Given the description of an element on the screen output the (x, y) to click on. 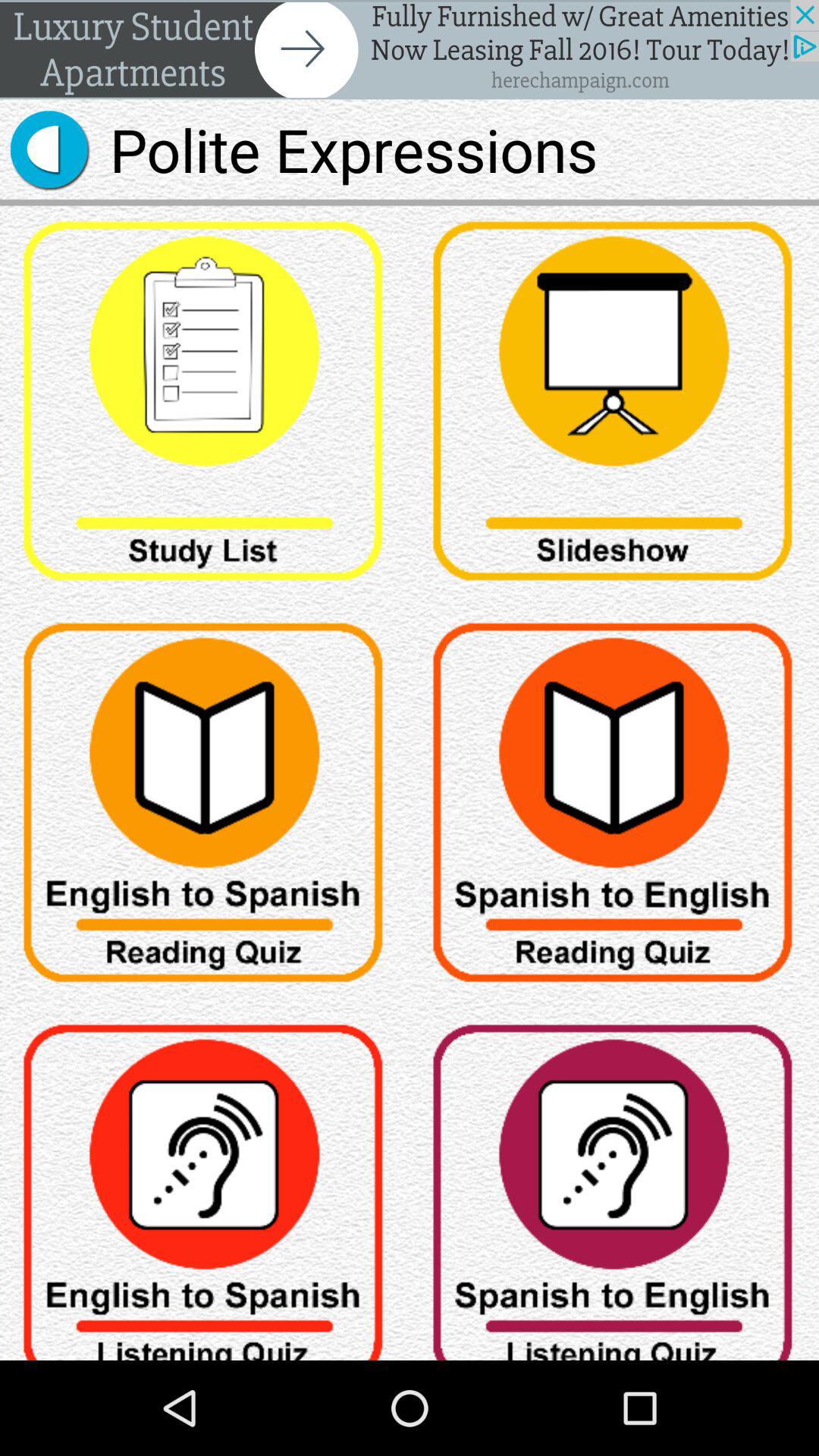
go to advertisement (409, 49)
